Given the description of an element on the screen output the (x, y) to click on. 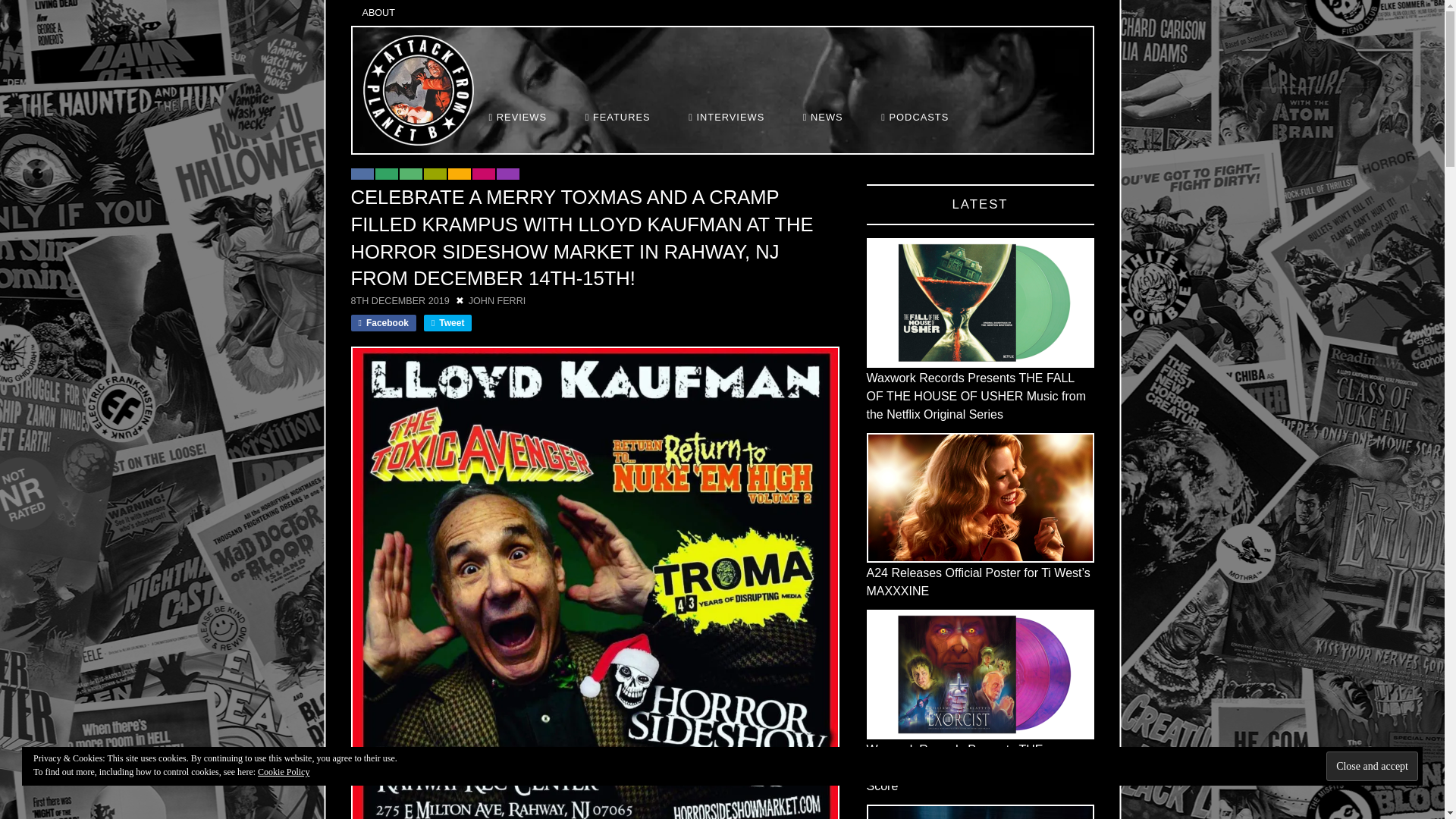
Tweet (447, 322)
Film (434, 173)
Exploitation (385, 173)
PODCASTS (914, 117)
Attack from Planet B (417, 90)
Comedy (361, 173)
FEATURES (619, 117)
REVIEWS (518, 117)
JOHN FERRI (496, 300)
NEWS (824, 117)
